Given the description of an element on the screen output the (x, y) to click on. 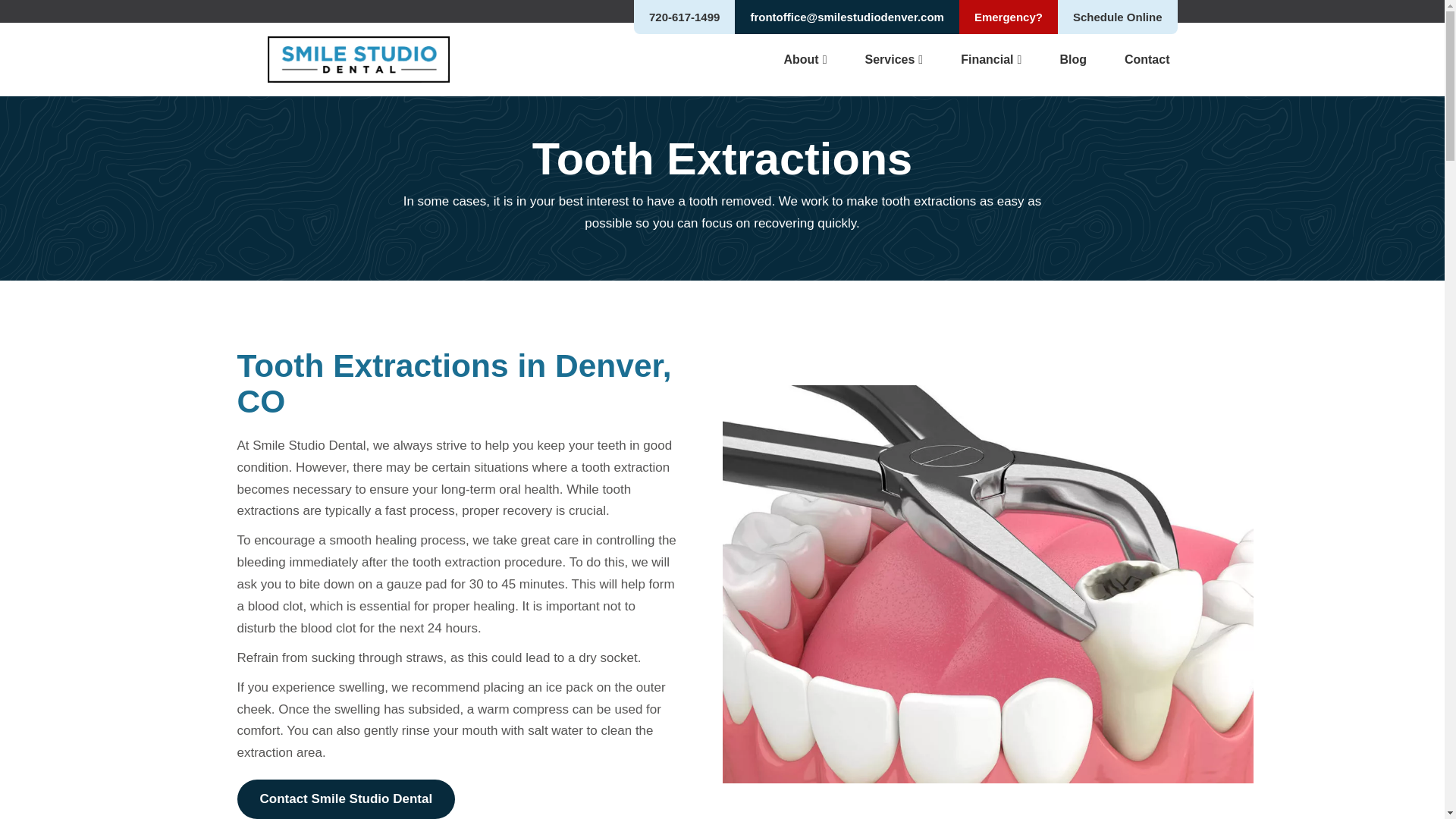
Emergency? (1008, 17)
Contact (1146, 60)
Financial (991, 60)
Blog (1072, 60)
Services (893, 60)
Schedule Online (1117, 17)
720-617-1499 (684, 17)
About (805, 60)
